Given the description of an element on the screen output the (x, y) to click on. 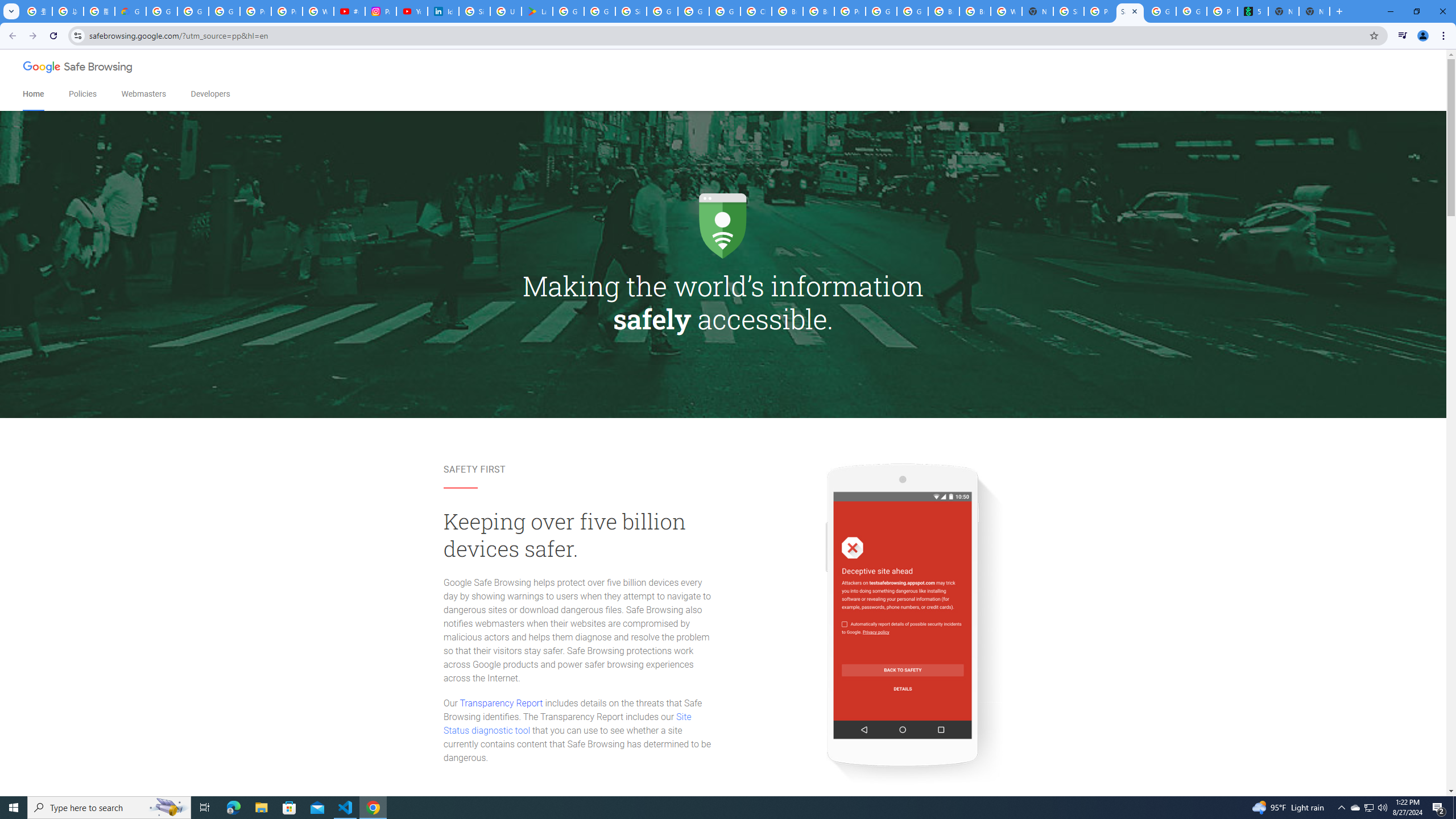
Browse Chrome as a guest - Computer - Google Chrome Help (943, 11)
Webmasters (142, 94)
Sign in - Google Accounts (1068, 11)
Control your music, videos, and more (1402, 35)
Privacy Help Center - Policies Help (286, 11)
Policies (82, 94)
